Given the description of an element on the screen output the (x, y) to click on. 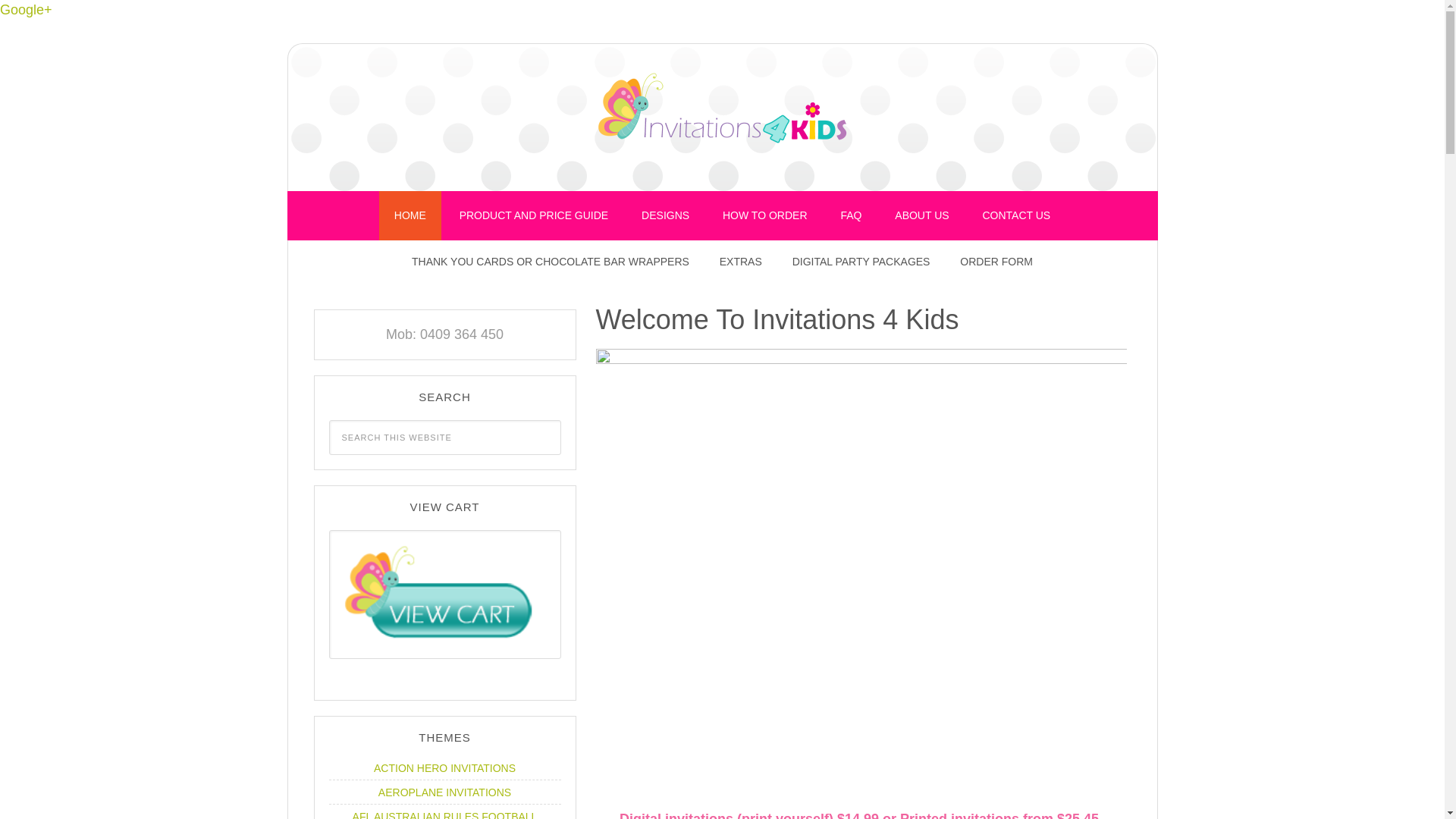
DESIGNS Element type: text (665, 215)
CONTACT US Element type: text (1016, 215)
FAQ Element type: text (850, 215)
Invitations 4 Kids Element type: text (721, 113)
DIGITAL PARTY PACKAGES Element type: text (861, 261)
PRODUCT AND PRICE GUIDE Element type: text (534, 215)
ORDER FORM Element type: text (996, 261)
ABOUT US Element type: text (921, 215)
HOME Element type: text (410, 215)
Google+ Element type: text (26, 9)
Search Element type: text (559, 419)
ACTION HERO INVITATIONS Element type: text (444, 768)
HOW TO ORDER Element type: text (764, 215)
EXTRAS Element type: text (740, 261)
THANK YOU CARDS OR CHOCOLATE BAR WRAPPERS Element type: text (550, 261)
AEROPLANE INVITATIONS Element type: text (444, 792)
